Given the description of an element on the screen output the (x, y) to click on. 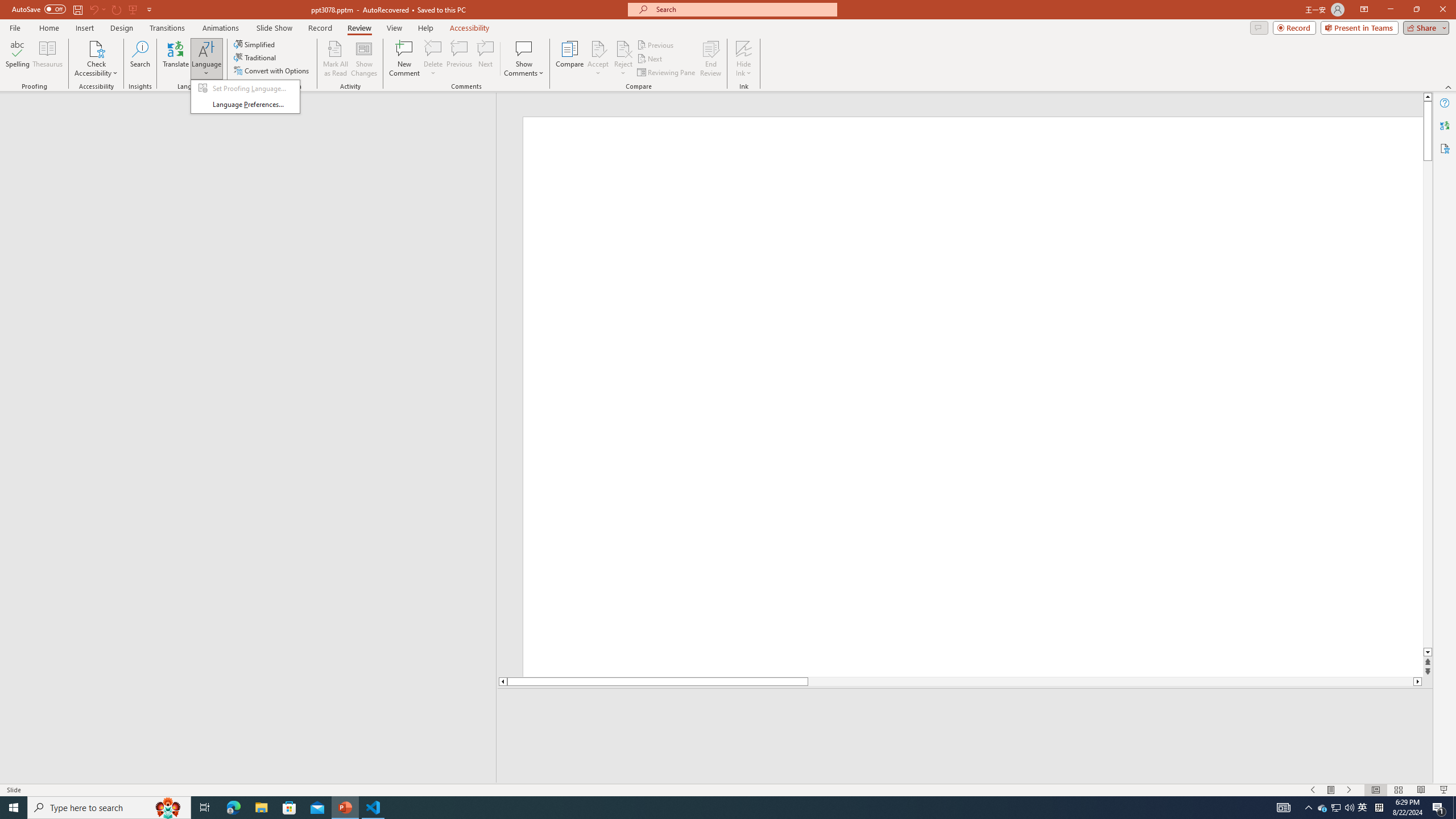
Show desktop (1454, 807)
Accept (1362, 807)
Compare (598, 58)
Check Accessibility (569, 58)
Traditional (95, 58)
Visual Studio Code - 1 running window (255, 56)
Translate (373, 807)
